Given the description of an element on the screen output the (x, y) to click on. 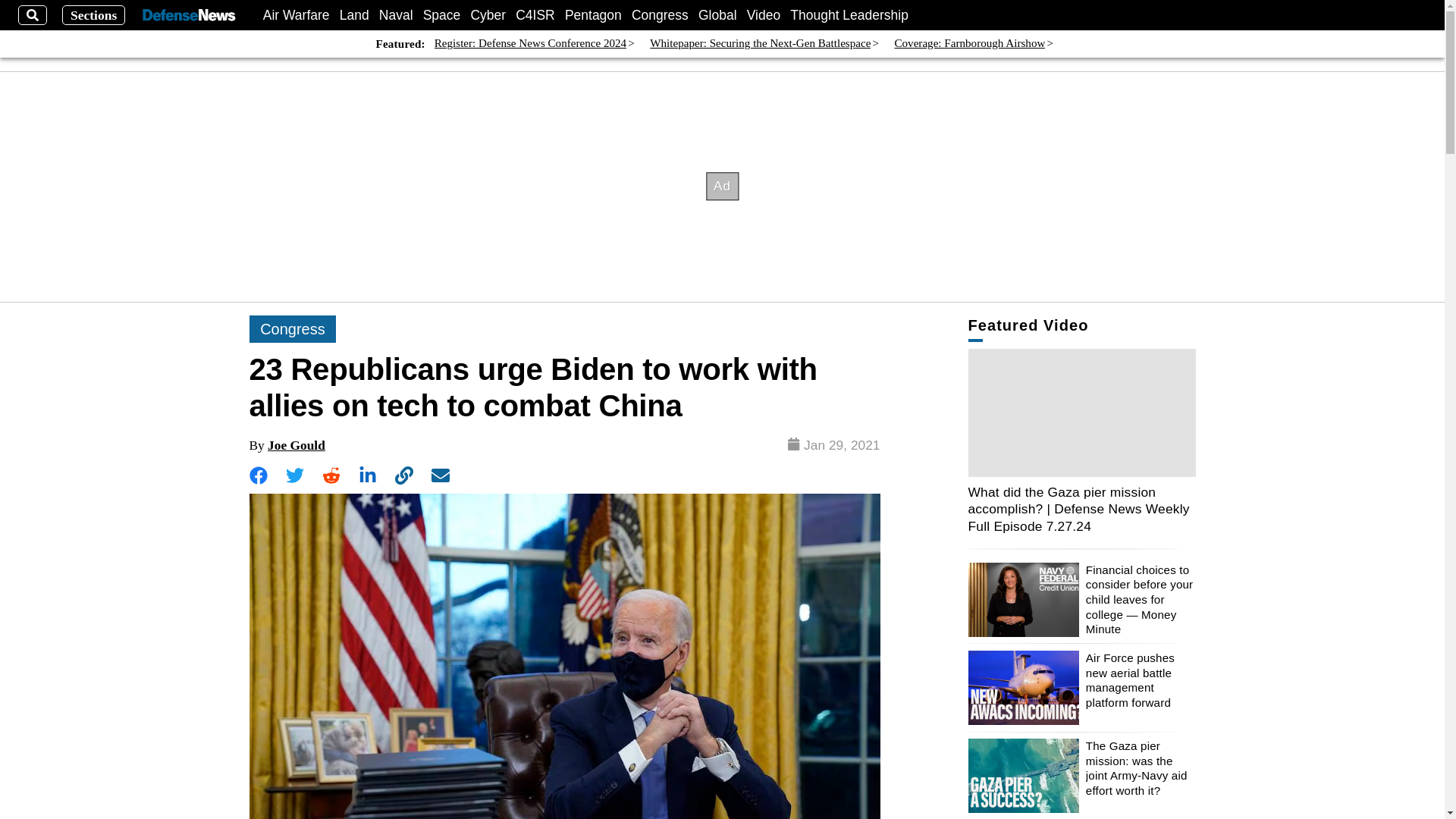
Video (763, 14)
Land (354, 14)
Defense News Logo (188, 14)
Naval (395, 14)
Pentagon (592, 14)
Thought Leadership (849, 14)
Congress (659, 14)
Sections (93, 14)
Global (717, 14)
Space (442, 14)
Air Warfare (296, 14)
